Given the description of an element on the screen output the (x, y) to click on. 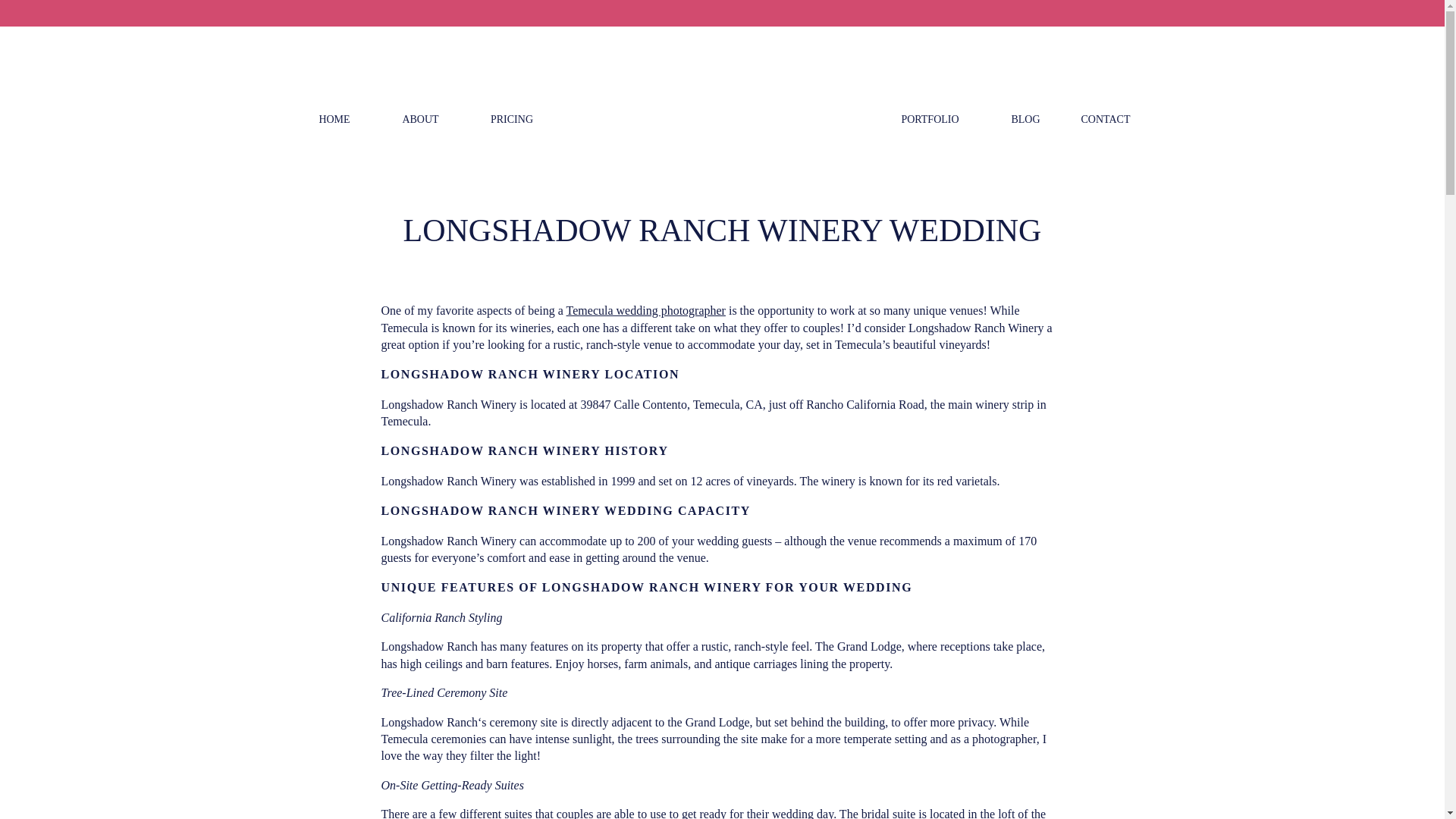
Temecula wedding photographer (645, 309)
PORTFOLIO (930, 121)
BLOG (1025, 121)
HOME (334, 121)
PRICING (511, 121)
ABOUT (419, 121)
CONTACT (1106, 121)
